Given the description of an element on the screen output the (x, y) to click on. 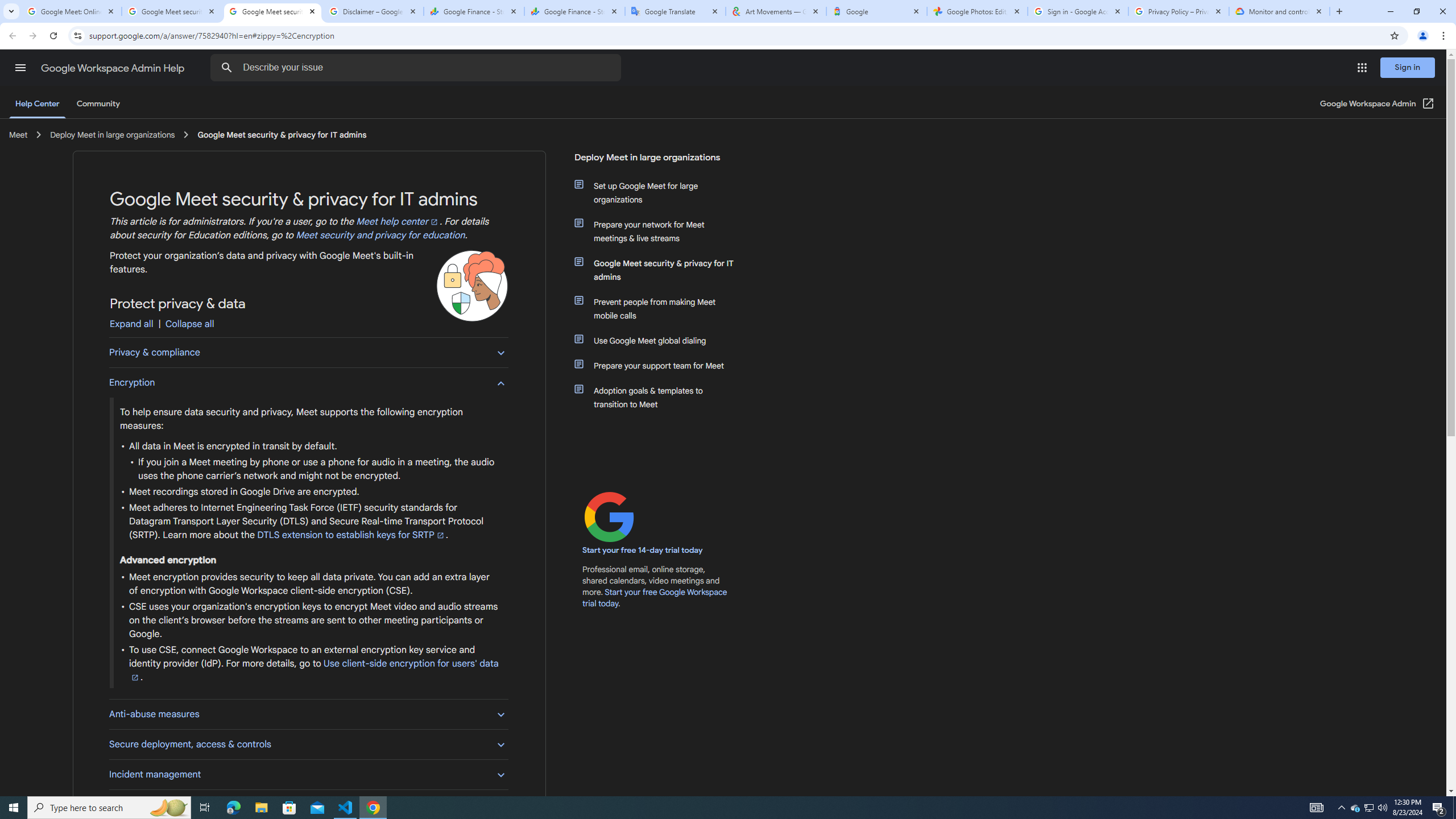
Sign in - Google Accounts (1078, 11)
Meet  (17, 134)
Encryption (308, 382)
Privacy & compliance (308, 352)
Meet security and privacy for education (380, 235)
Search Help Center (227, 67)
Adoption goals & templates to transition to Meet (661, 397)
Start your free Google Workspace trial today (655, 597)
